Given the description of an element on the screen output the (x, y) to click on. 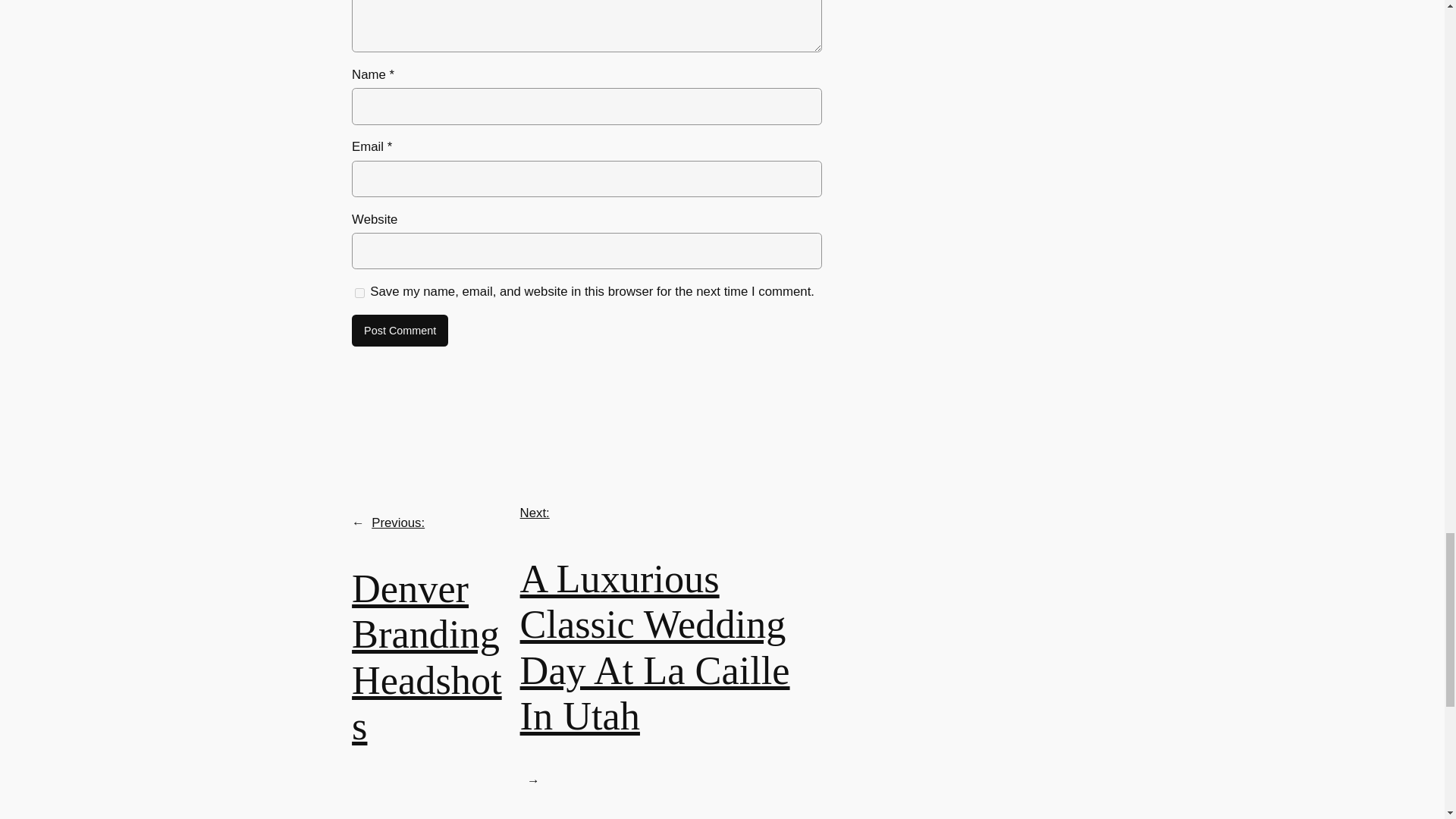
Post Comment (400, 330)
Post Comment (400, 330)
